Given the description of an element on the screen output the (x, y) to click on. 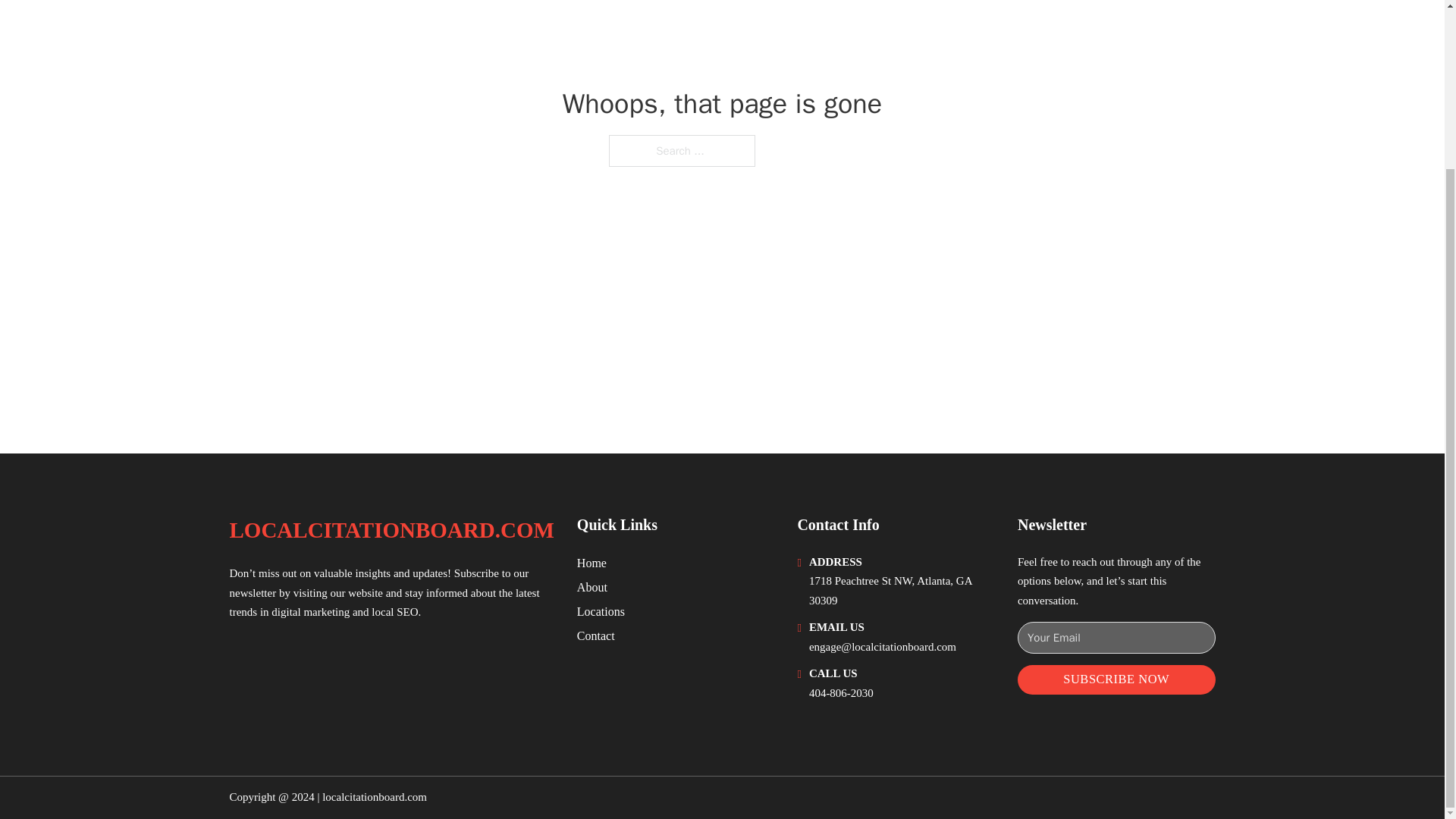
About (591, 587)
404-806-2030 (841, 693)
Home (591, 562)
SUBSCRIBE NOW (1116, 679)
LOCALCITATIONBOARD.COM (390, 529)
Contact (595, 635)
Locations (600, 611)
